Given the description of an element on the screen output the (x, y) to click on. 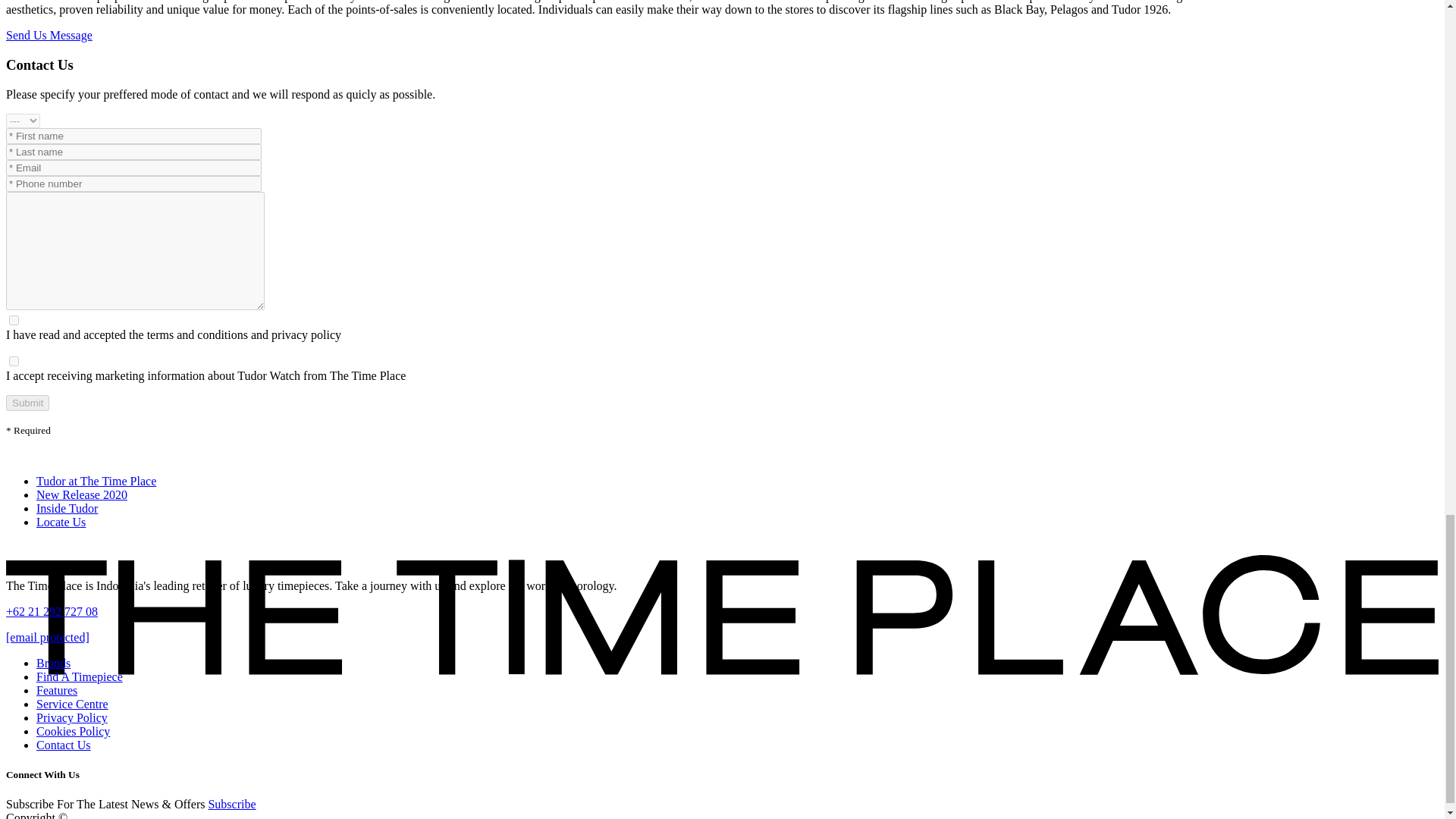
1 (13, 361)
Submit (27, 402)
Subscribe (232, 803)
1 (13, 320)
Send Us Message (49, 34)
